Given the description of an element on the screen output the (x, y) to click on. 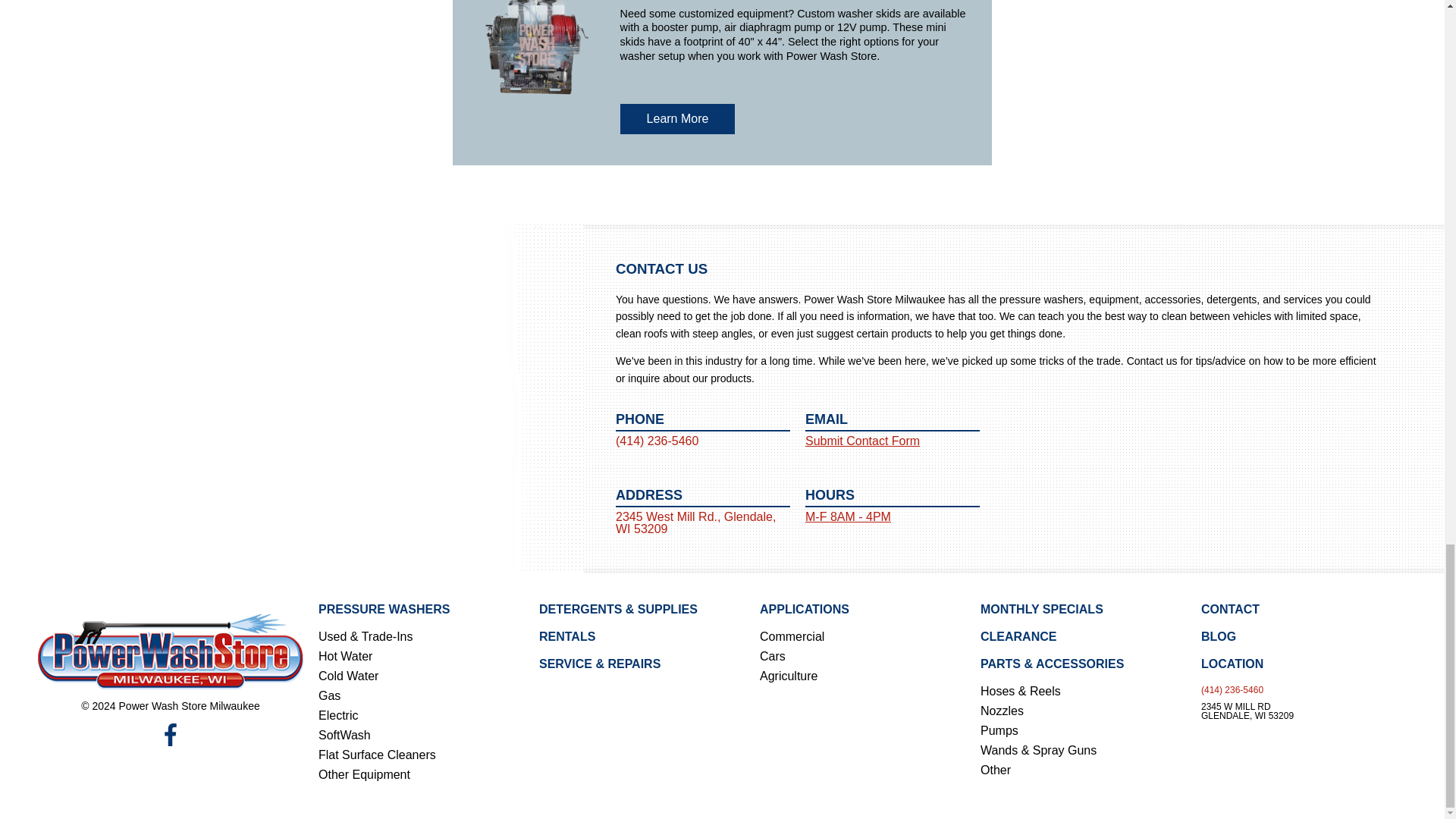
Facebook with Power Wash Store (170, 734)
